Given the description of an element on the screen output the (x, y) to click on. 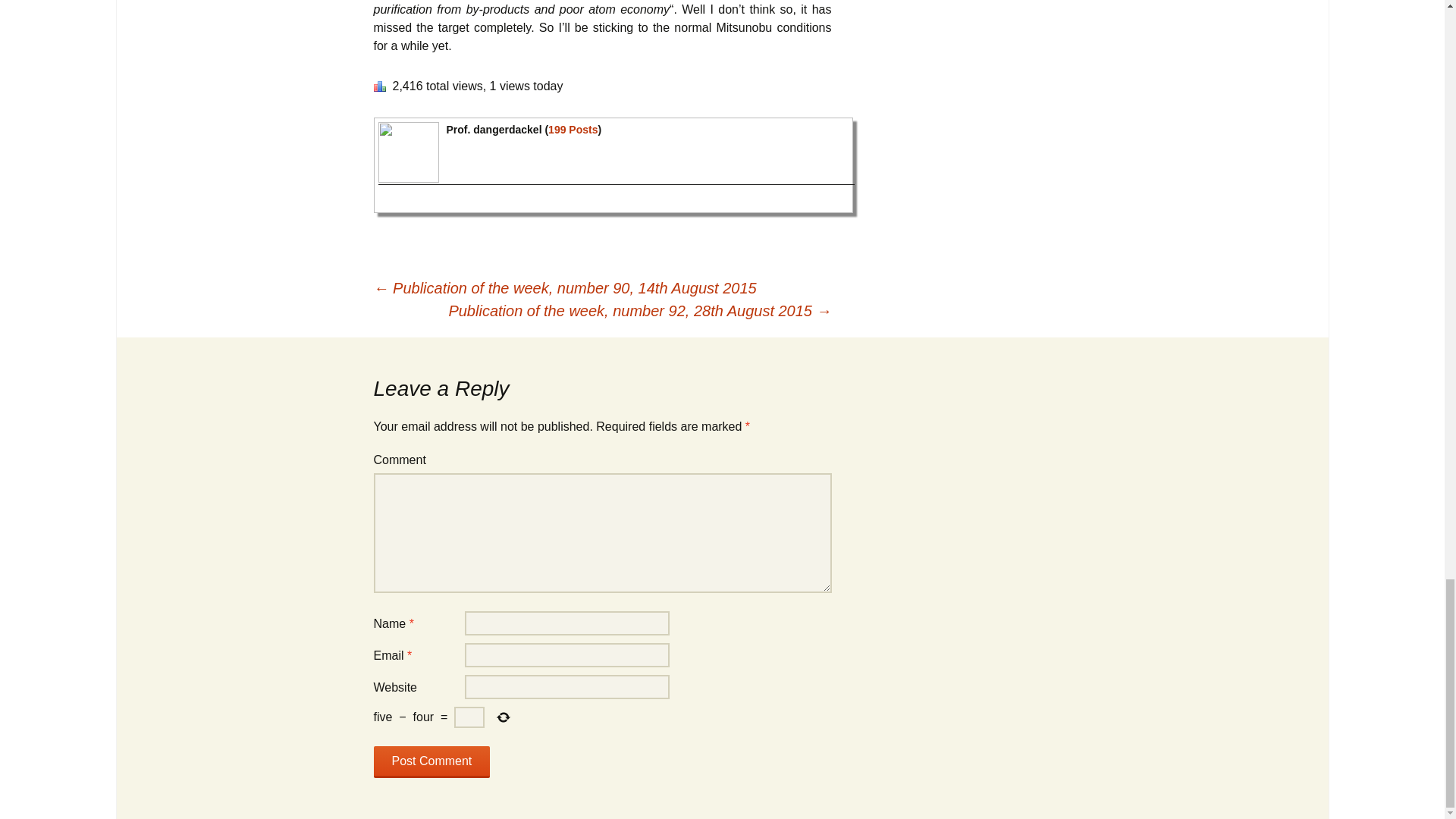
199 Posts (572, 129)
Post Comment (430, 762)
Post Comment (430, 762)
